Given the description of an element on the screen output the (x, y) to click on. 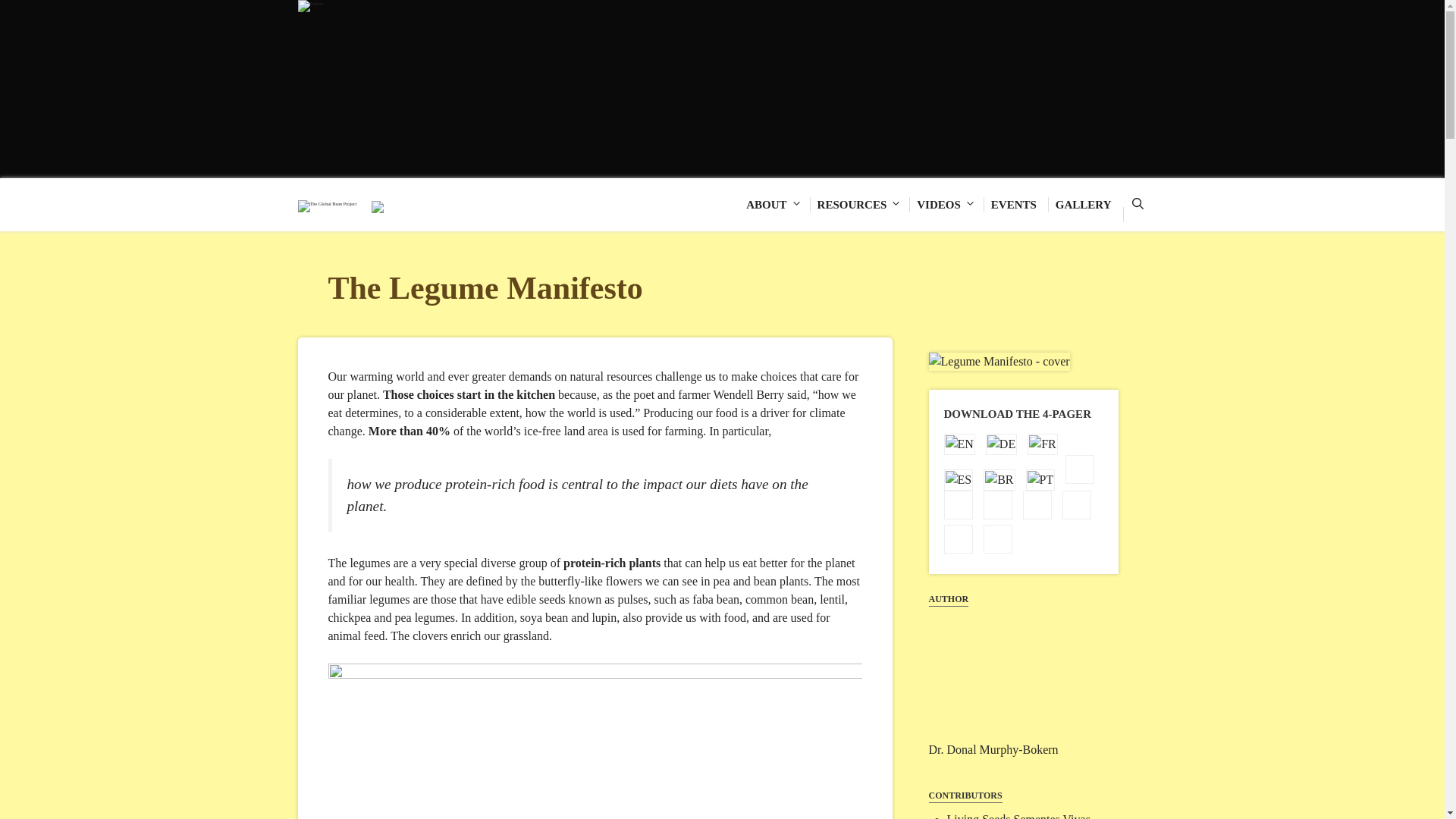
ABOUT (773, 204)
The Global Bean Project (326, 205)
RESOURCES (859, 204)
Living Seeds Sementes Vivas (1017, 816)
GALLERY (1085, 204)
EVENTS (1016, 204)
VIDEOS (946, 204)
